Given the description of an element on the screen output the (x, y) to click on. 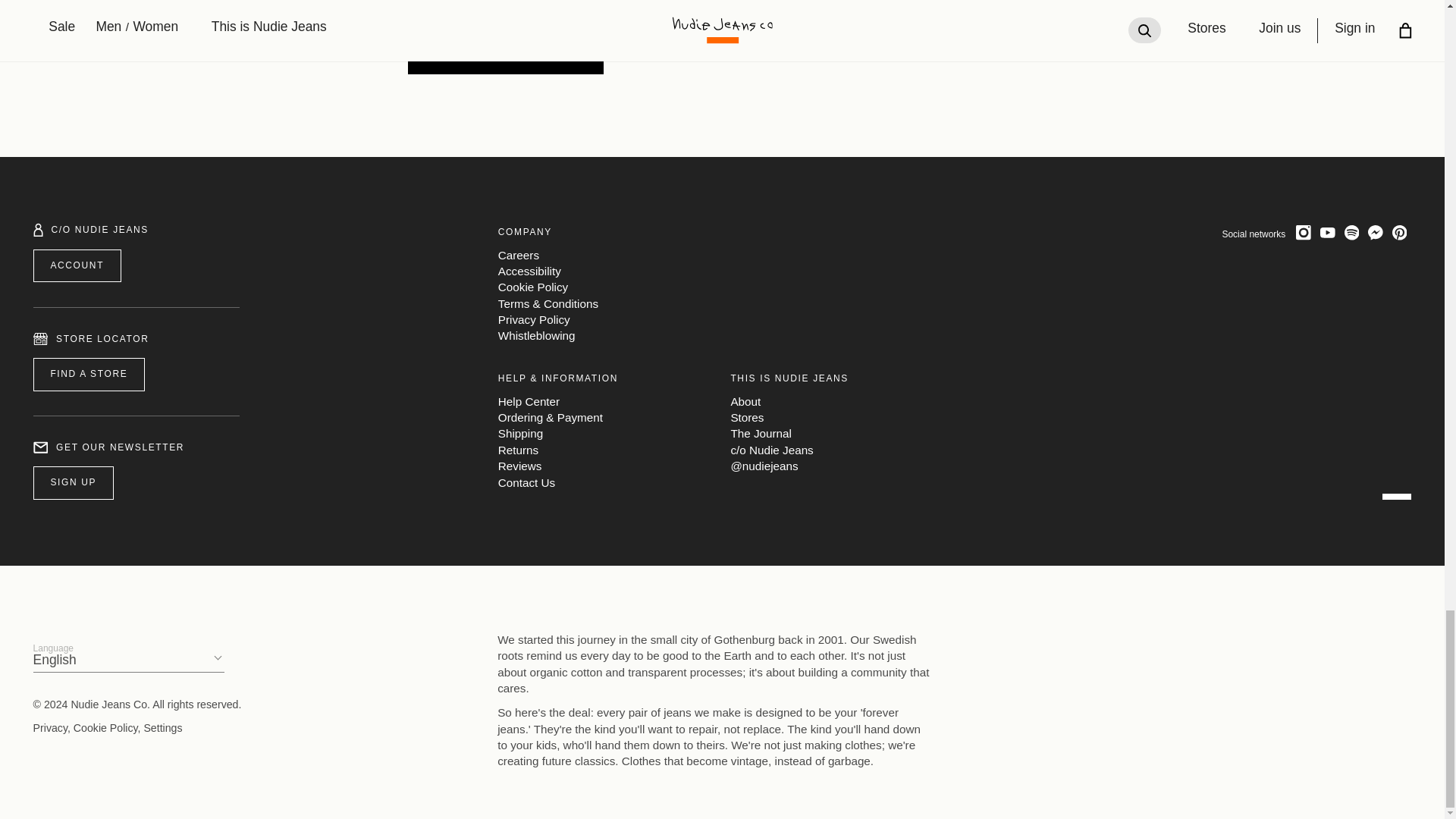
Facebook (1374, 232)
Instagram (1303, 232)
Pinterest (1399, 232)
Youtube (1327, 232)
Spotify (1351, 232)
